Given the description of an element on the screen output the (x, y) to click on. 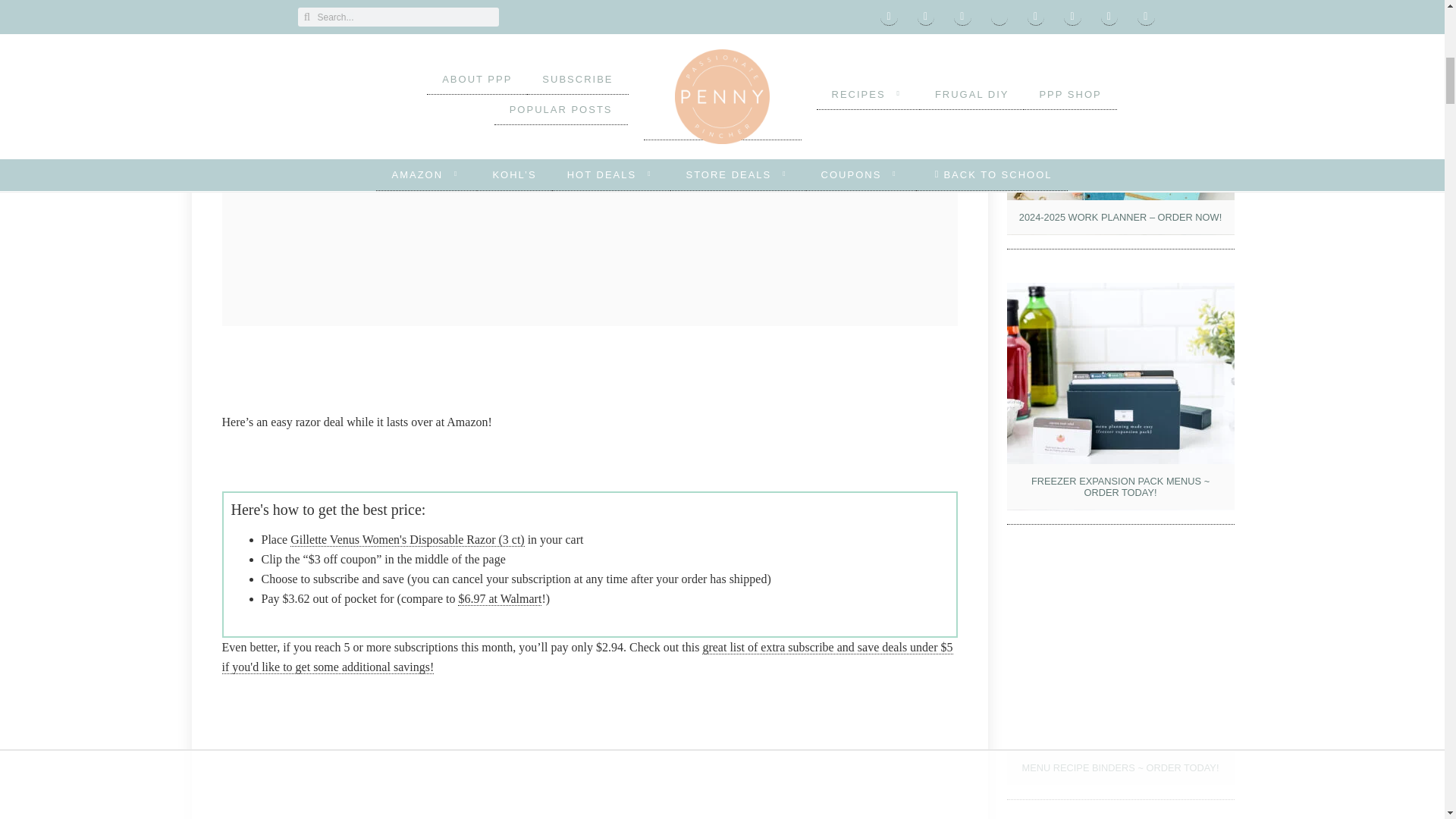
Work Planner - Order Now! (1120, 121)
